Given the description of an element on the screen output the (x, y) to click on. 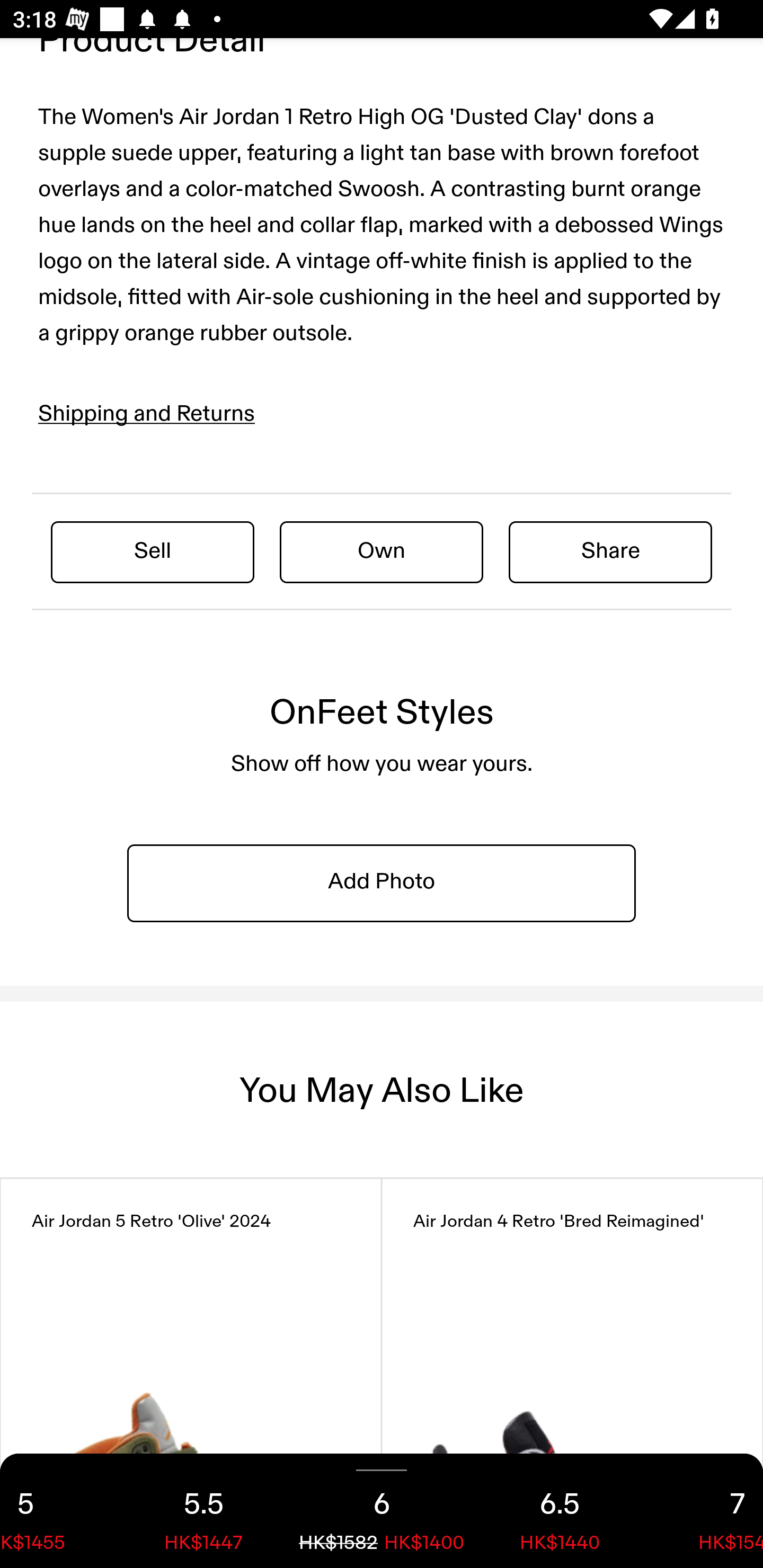
Shipping and Returns (146, 413)
Sell (152, 551)
Own (381, 551)
Share (609, 551)
Add Photo (381, 882)
Air Jordan 5 Retro 'Olive' 2024 (190, 1372)
Air Jordan 4 Retro 'Bred Reimagined' (572, 1372)
5 HK$1455 (57, 1510)
5.5 HK$1447 (203, 1510)
6 HK$1582 HK$1400 (381, 1510)
6.5 HK$1440 (559, 1510)
7 HK$1542 (705, 1510)
